Given the description of an element on the screen output the (x, y) to click on. 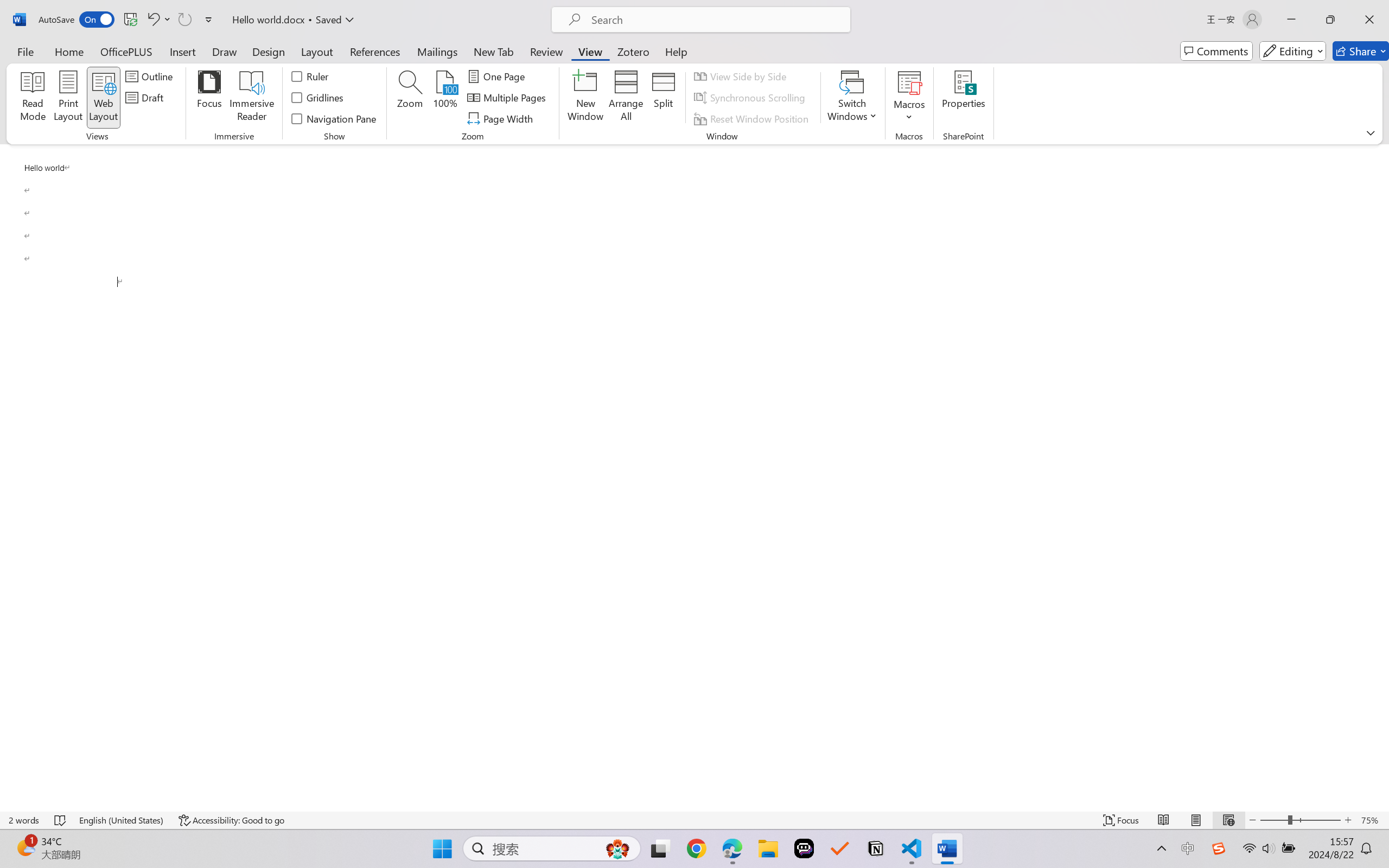
View (589, 51)
AutoSave (76, 19)
Undo Paragraph Formatting (152, 19)
Arrange All (625, 97)
OfficePLUS (126, 51)
Zoom... (409, 97)
Switch Windows (852, 97)
Reset Window Position (752, 118)
Zotero (632, 51)
Share (1360, 51)
Class: NetUIScrollBar (1382, 477)
View Macros (909, 81)
Language English (United States) (121, 819)
